Given the description of an element on the screen output the (x, y) to click on. 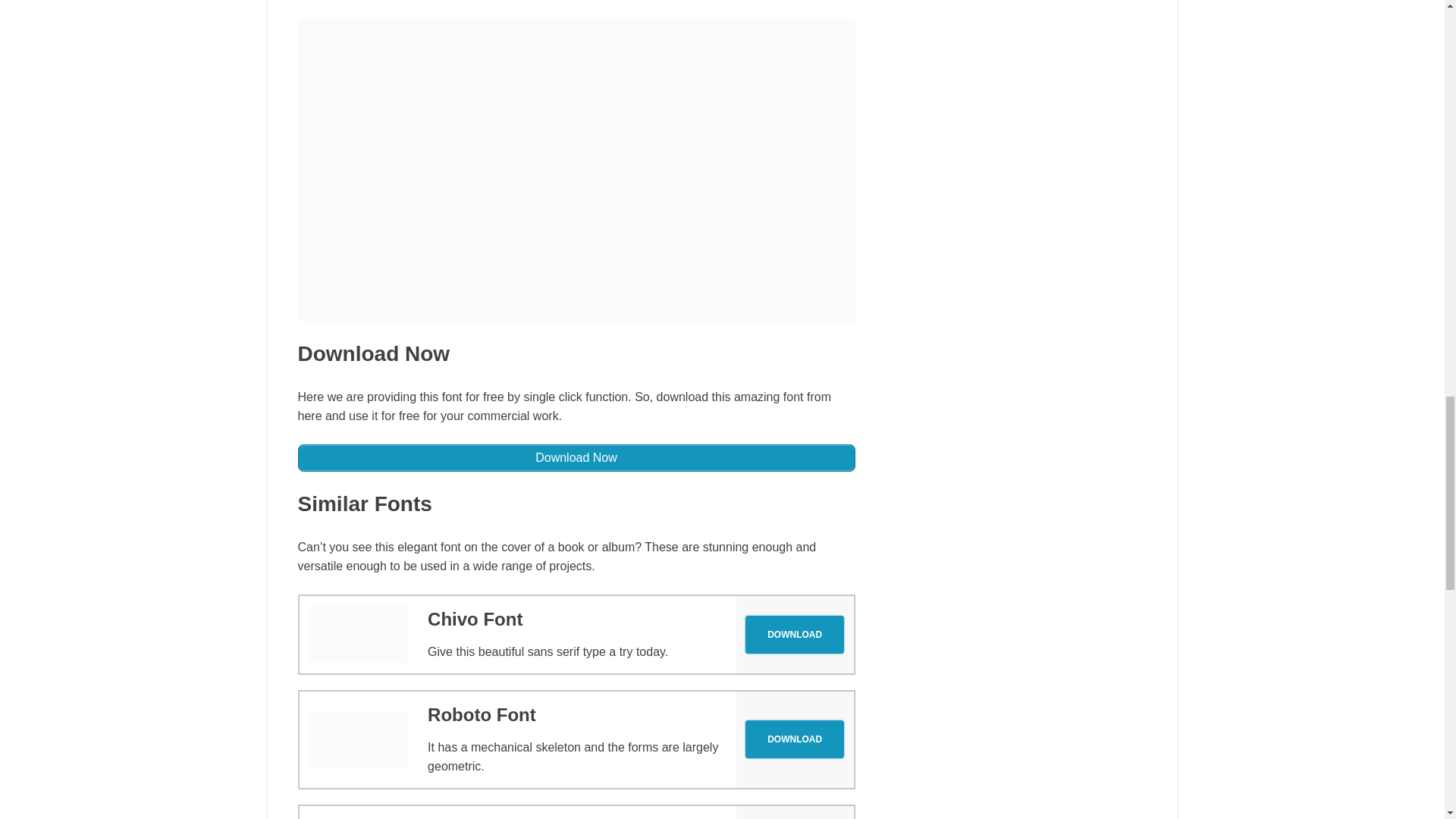
DOWNLOAD (794, 634)
Download Now (575, 457)
DOWNLOAD (794, 738)
DOWNLOAD (794, 634)
DOWNLOAD (794, 739)
